Given the description of an element on the screen output the (x, y) to click on. 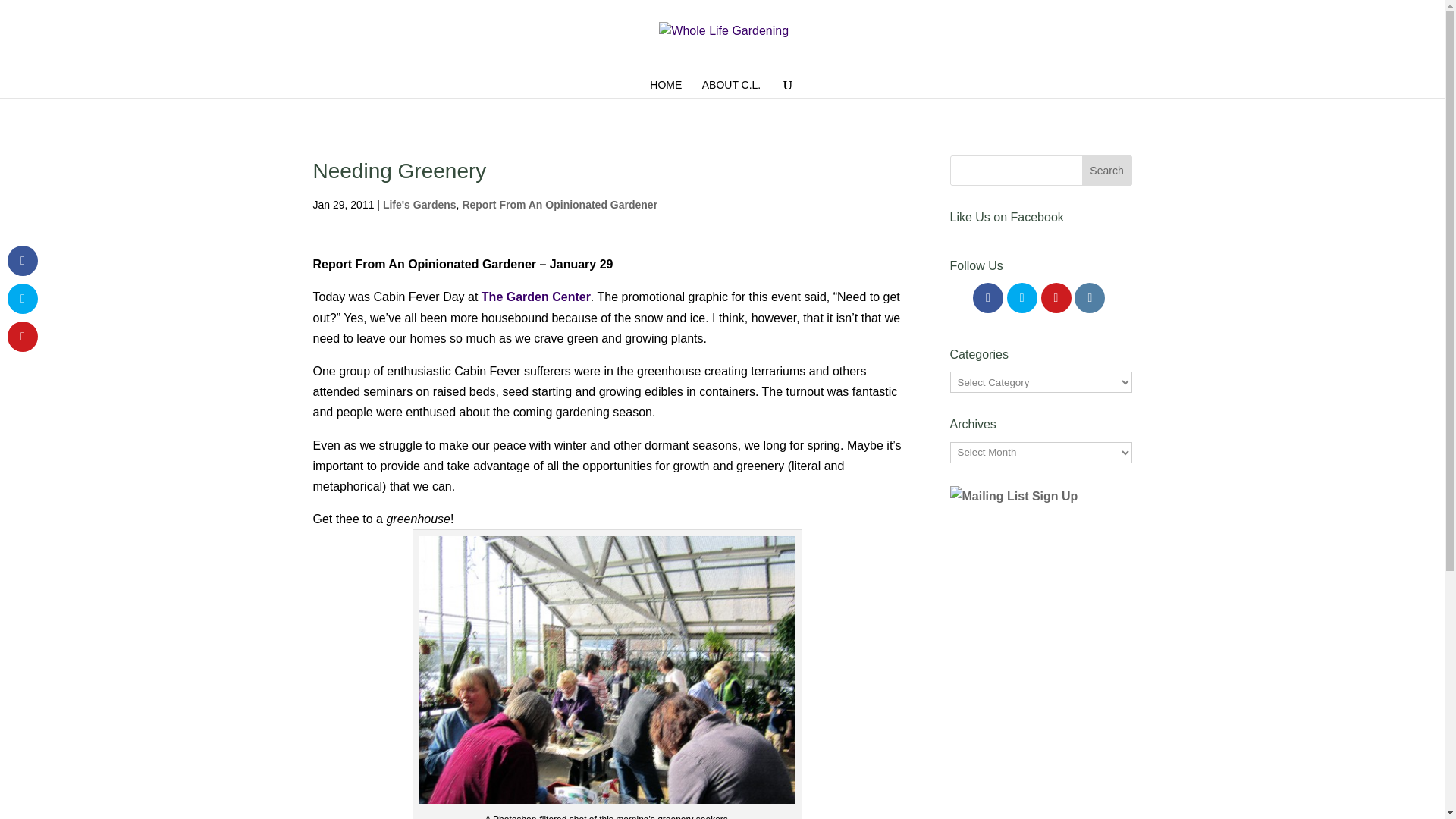
Search (1106, 170)
HOME (665, 88)
The Garden Center (536, 296)
ABOUT C.L. (731, 88)
Search (1106, 170)
Report From An Opinionated Gardener (559, 204)
Mailing List Sign Up (1023, 542)
Life's Gardens (419, 204)
